Given the description of an element on the screen output the (x, y) to click on. 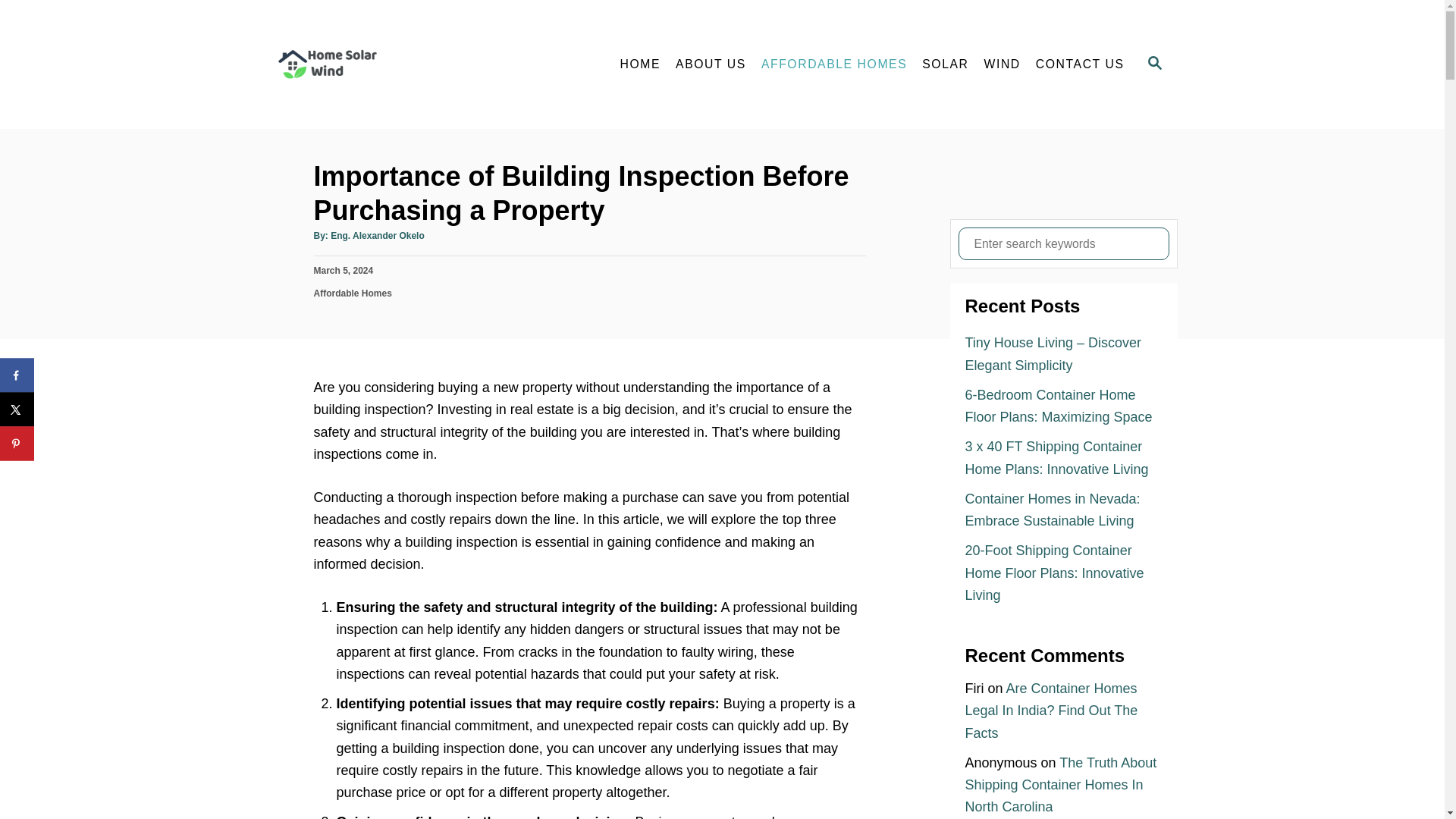
SOLAR (944, 64)
Home Solar Wind (403, 64)
WIND (1001, 64)
HOME (640, 64)
SEARCH (1153, 63)
Affordable Homes (352, 293)
CONTACT US (1079, 64)
AFFORDABLE HOMES (834, 64)
ABOUT US (711, 64)
Eng. Alexander Okelo (377, 235)
